Given the description of an element on the screen output the (x, y) to click on. 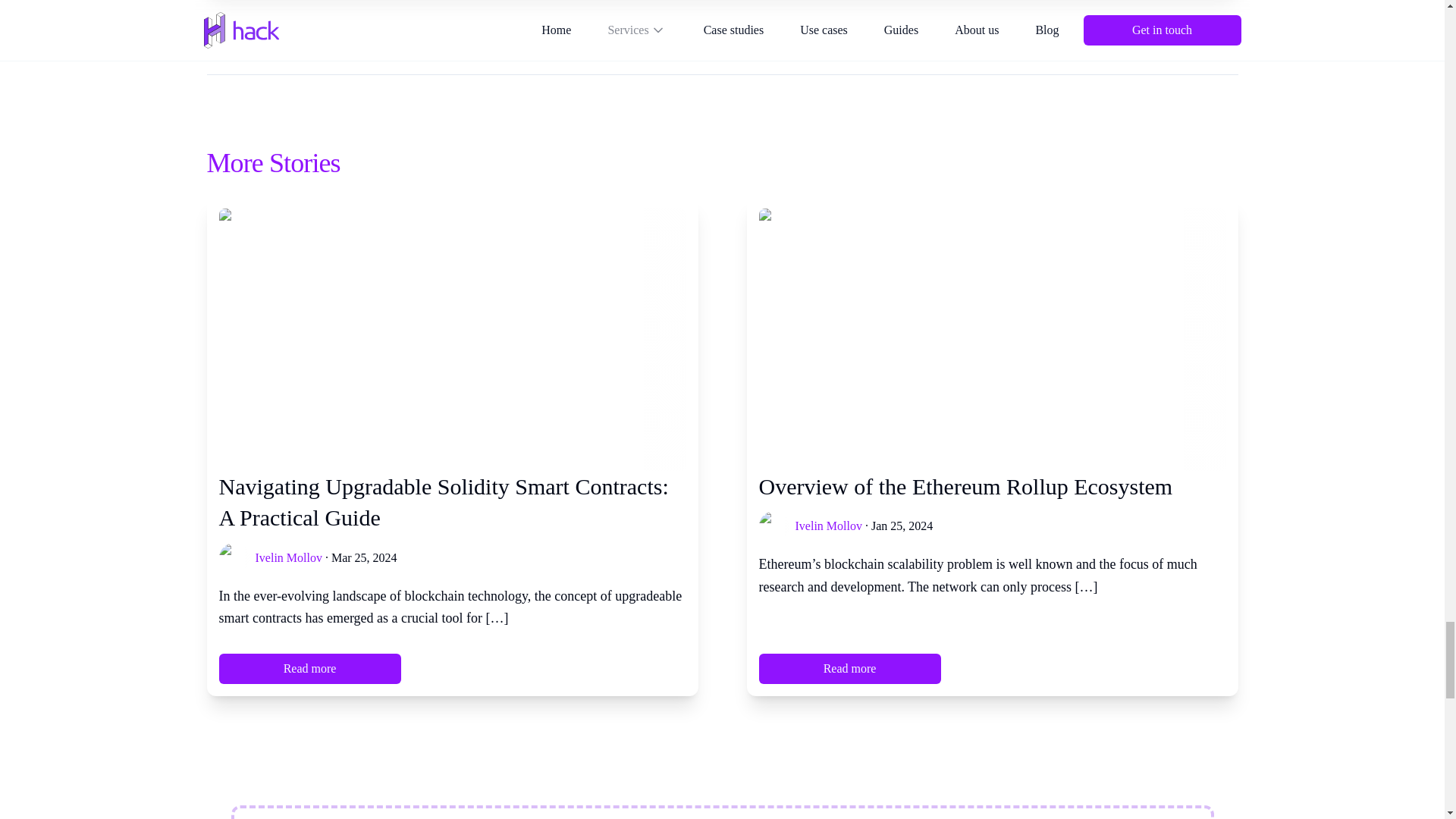
Overview of the Ethereum Rollup Ecosystem (991, 486)
Ivelin Mollov (827, 526)
Read more (849, 668)
Ivelin Mollov (287, 557)
Read more (309, 668)
